Given the description of an element on the screen output the (x, y) to click on. 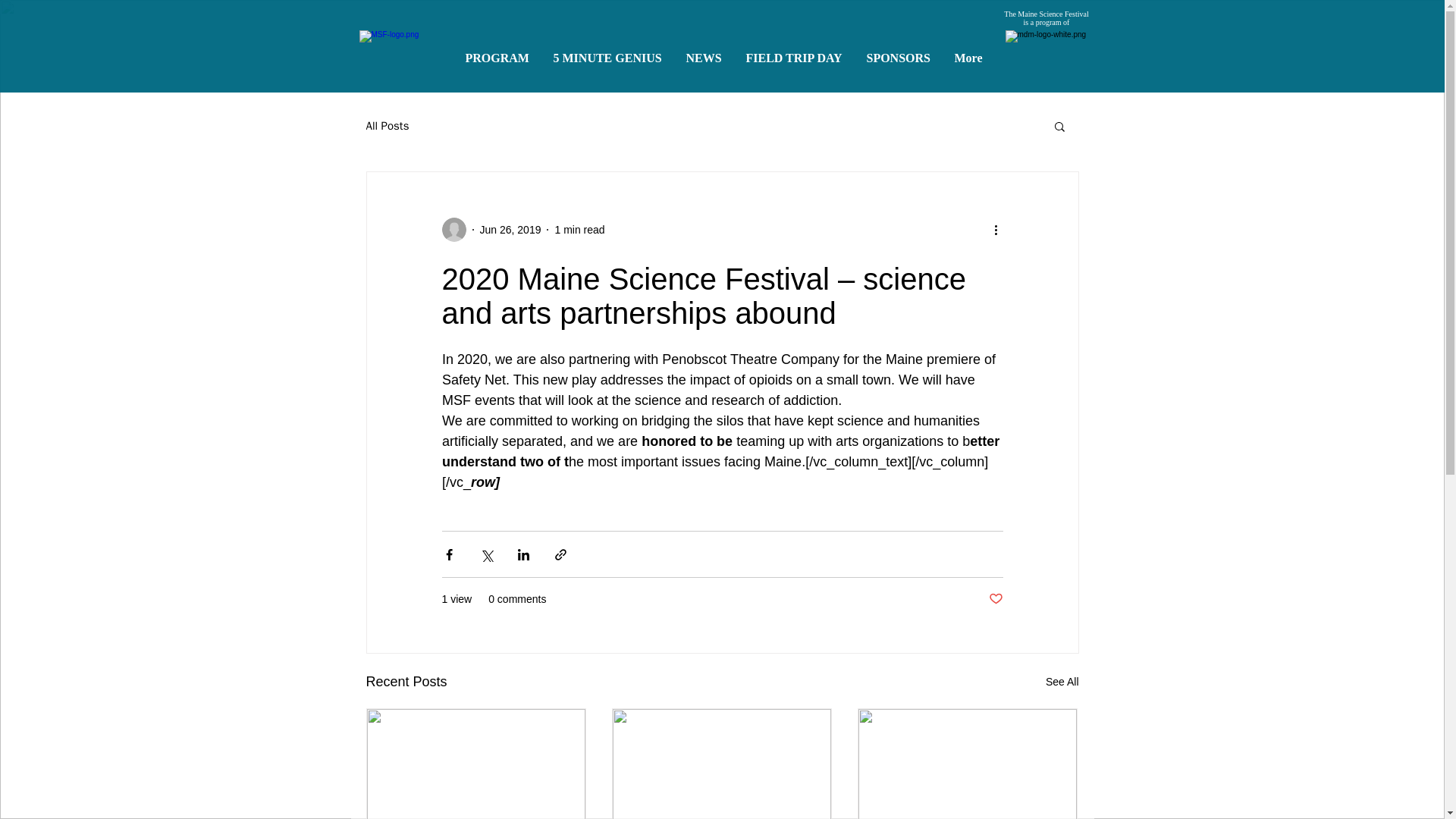
See All (1061, 681)
etter understand two of t (722, 451)
PROGRAM (502, 51)
SPONSORS (902, 51)
1 min read (579, 228)
FIELD TRIP DAY (798, 51)
honored to be (687, 441)
NEWS (708, 51)
5 MINUTE GENIUS (612, 51)
Jun 26, 2019 (509, 228)
